Given the description of an element on the screen output the (x, y) to click on. 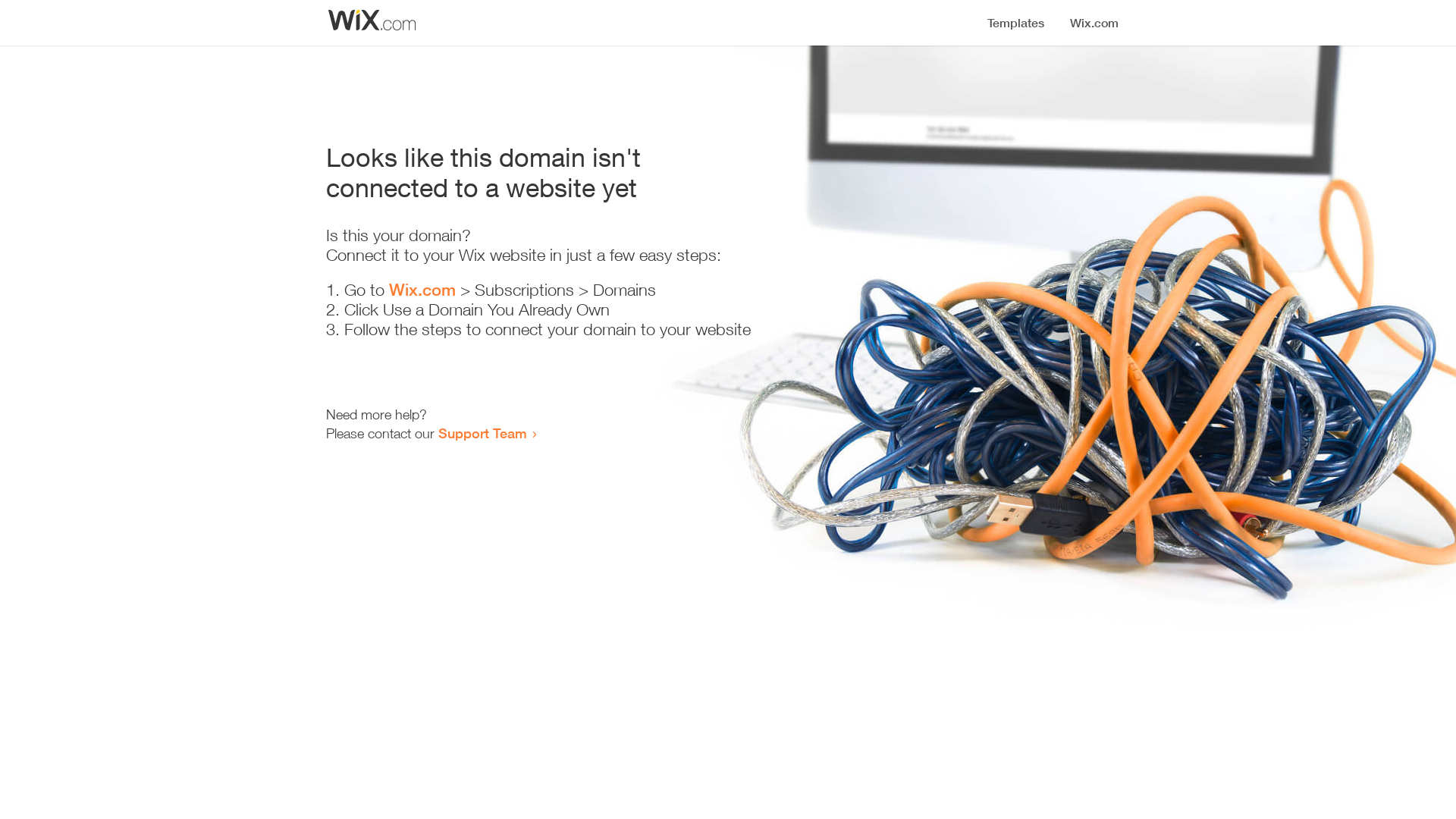
Wix.com Element type: text (422, 289)
Support Team Element type: text (482, 432)
